Given the description of an element on the screen output the (x, y) to click on. 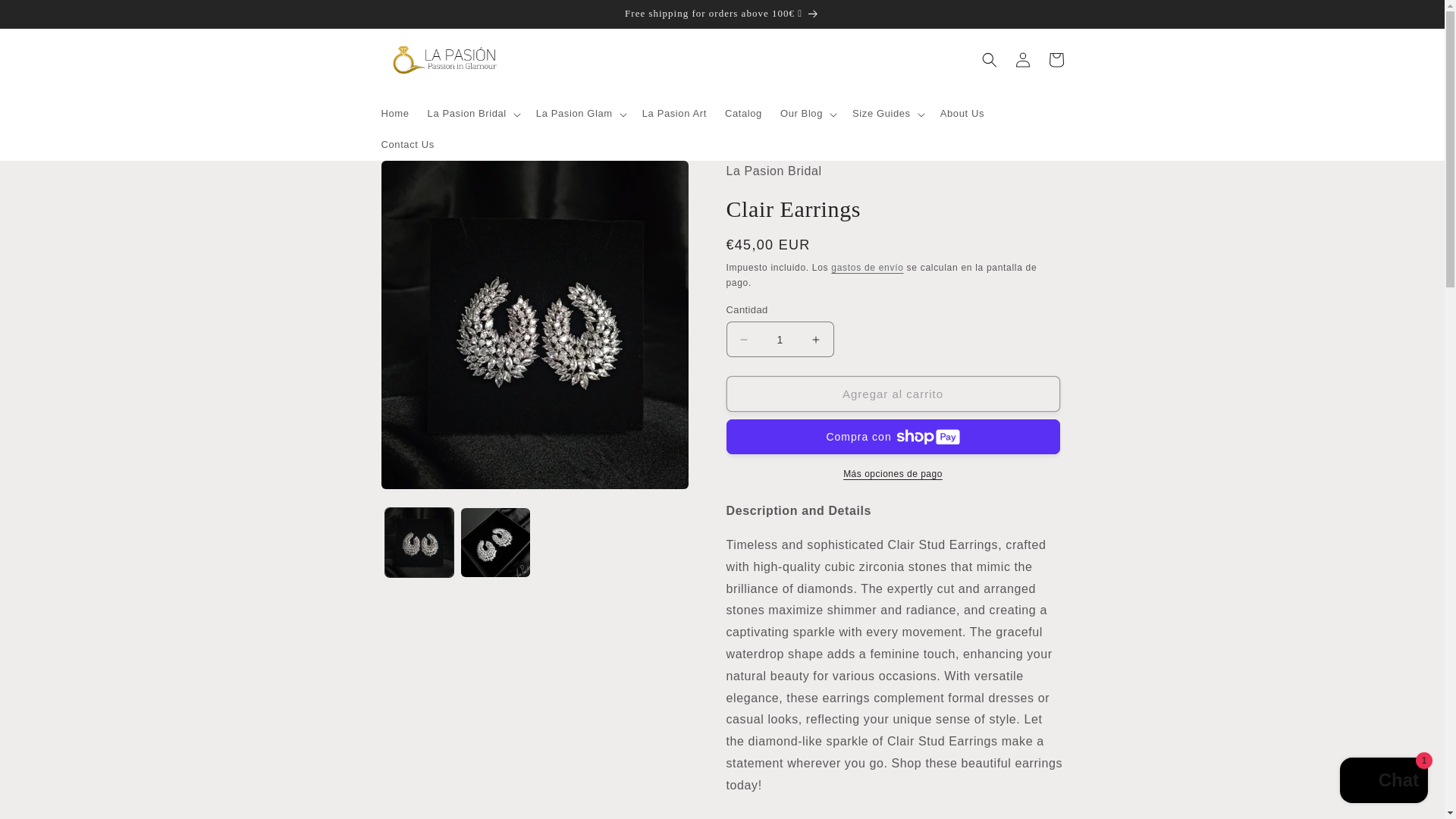
Ir directamente al contenido (45, 17)
Chat de la tienda online Shopify (1383, 781)
Home (394, 113)
1 (780, 339)
